Given the description of an element on the screen output the (x, y) to click on. 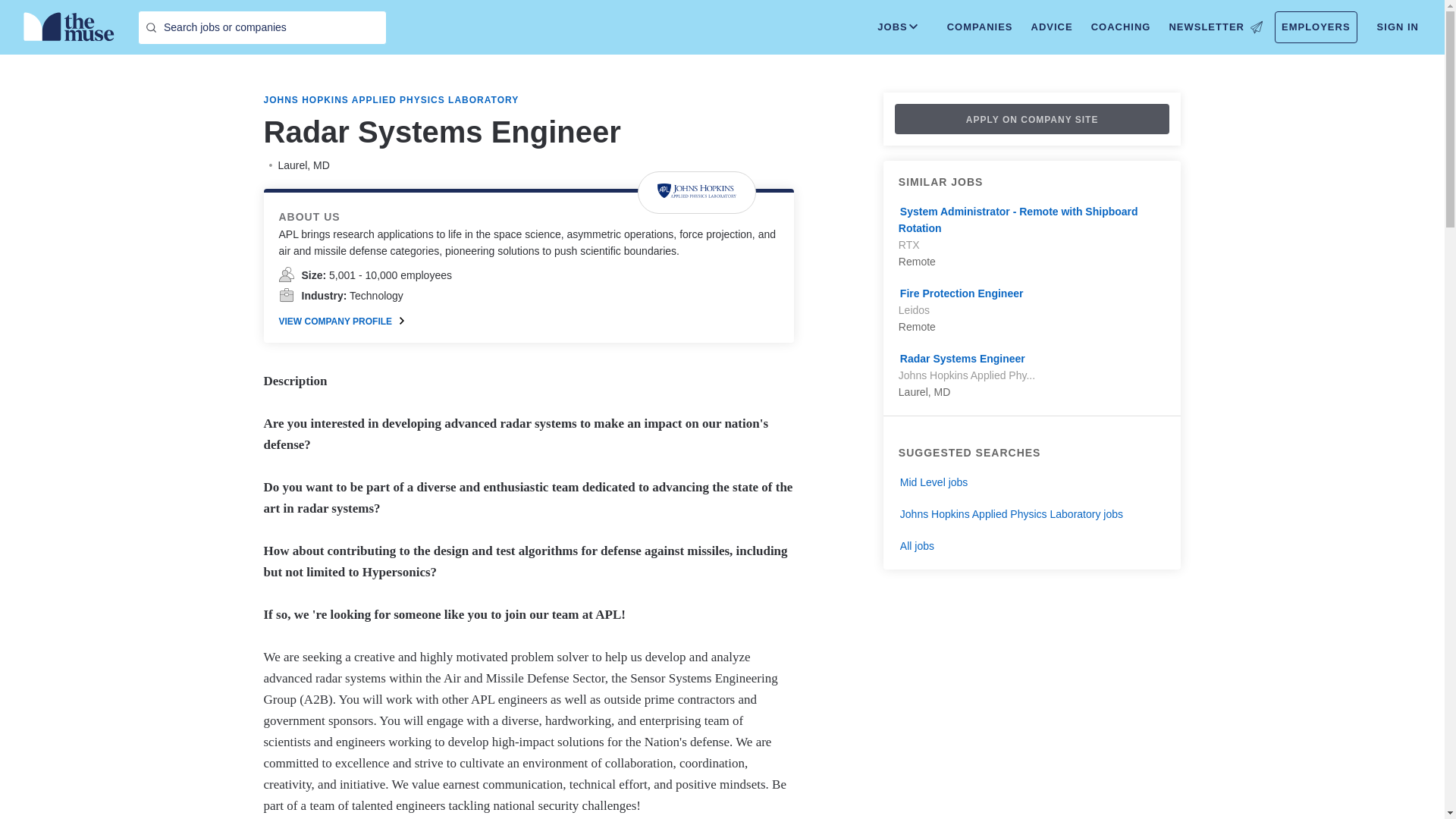
EMPLOYERS (1315, 27)
ADVICE (1051, 27)
VIEW COMPANY PROFILE (341, 321)
COACHING (1120, 27)
NEWSLETTER (1214, 27)
JOHNS HOPKINS APPLIED PHYSICS LABORATORY (391, 100)
COMPANIES (979, 27)
SIGN IN (1398, 27)
